Given the description of an element on the screen output the (x, y) to click on. 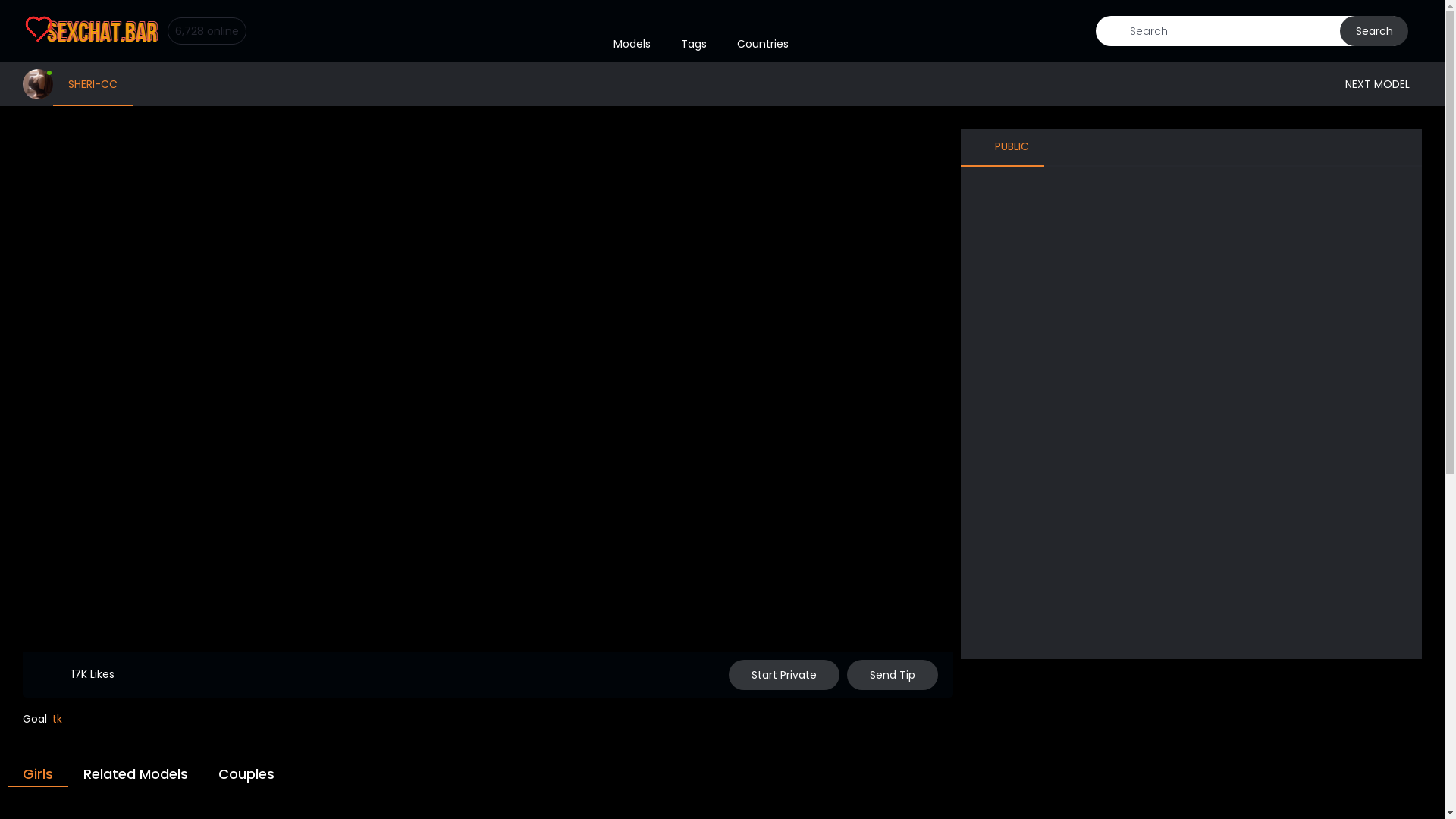
NEXT MODEL Element type: text (1383, 83)
Related Models Element type: text (135, 773)
Start Private Element type: text (783, 674)
Send Tip Element type: text (892, 674)
Search Element type: text (1373, 30)
Models Element type: text (631, 31)
PUBLIC Element type: text (1002, 146)
Tags Element type: text (693, 31)
Countries Element type: text (762, 31)
Couples Element type: text (246, 773)
